Given the description of an element on the screen output the (x, y) to click on. 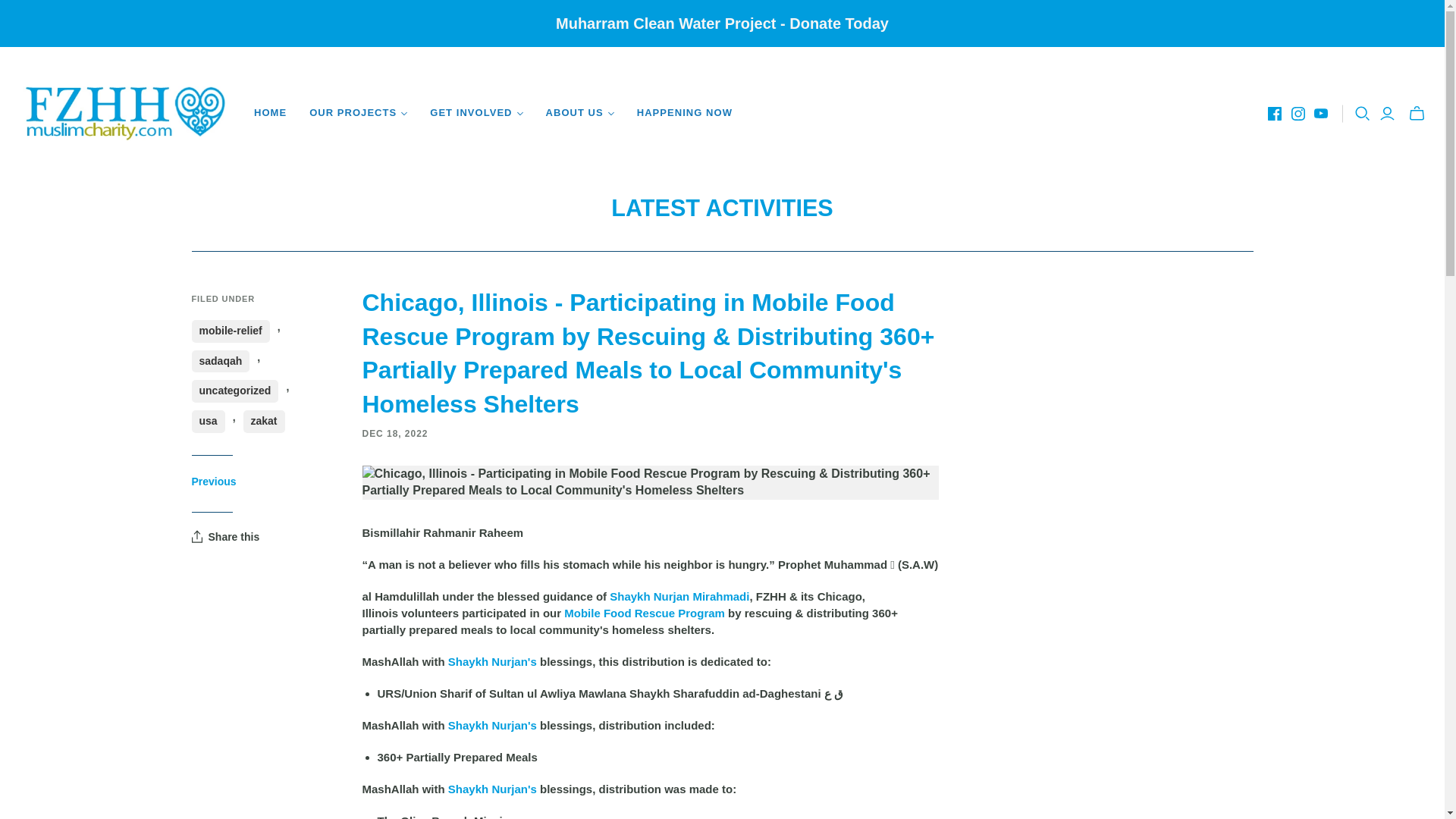
HAPPENING NOW (685, 113)
HOME (270, 113)
Toggle mini cart (1417, 112)
